Given the description of an element on the screen output the (x, y) to click on. 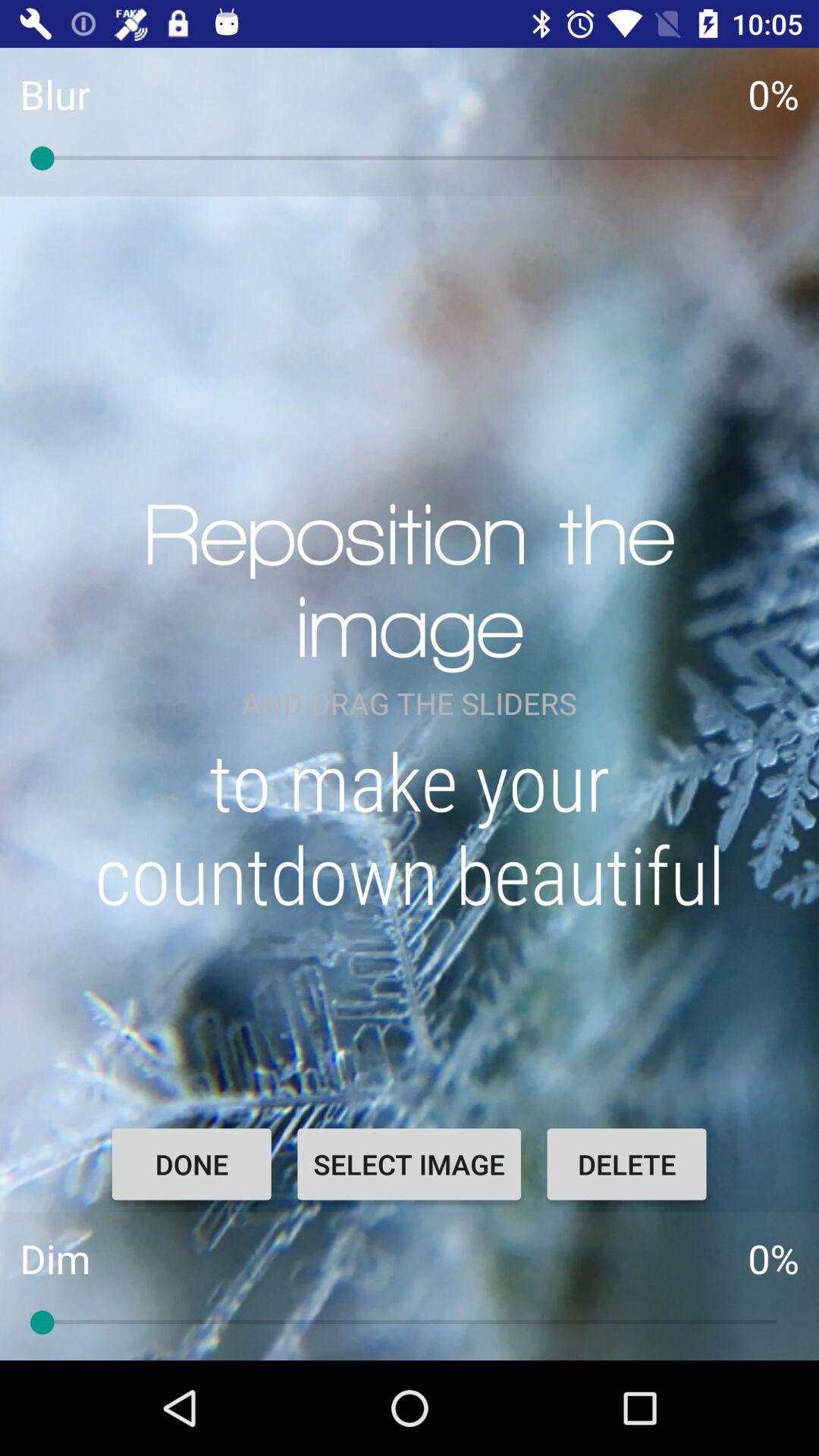
press icon next to delete icon (408, 1164)
